Given the description of an element on the screen output the (x, y) to click on. 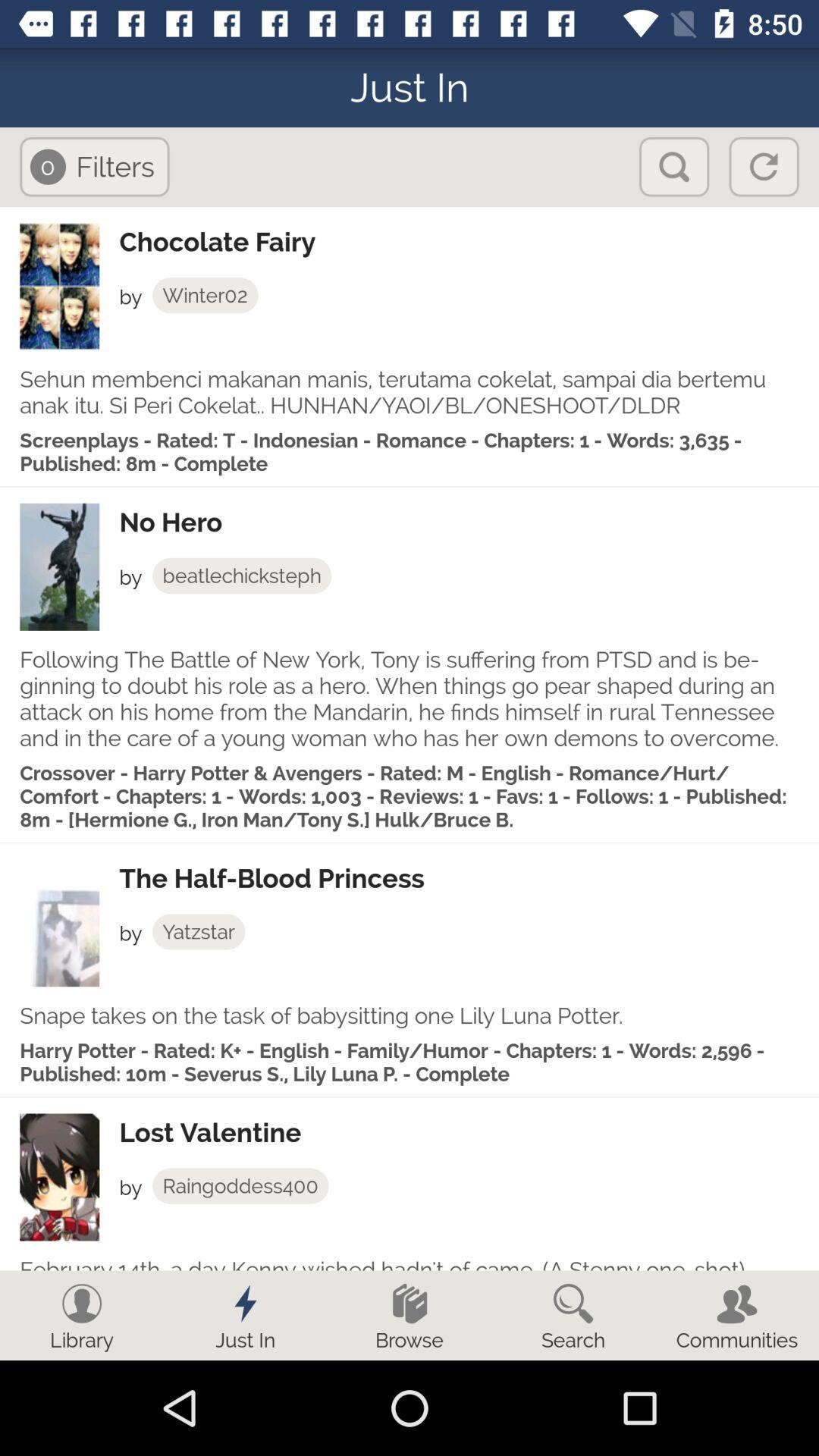
launch crossover harry potter icon (409, 796)
